Given the description of an element on the screen output the (x, y) to click on. 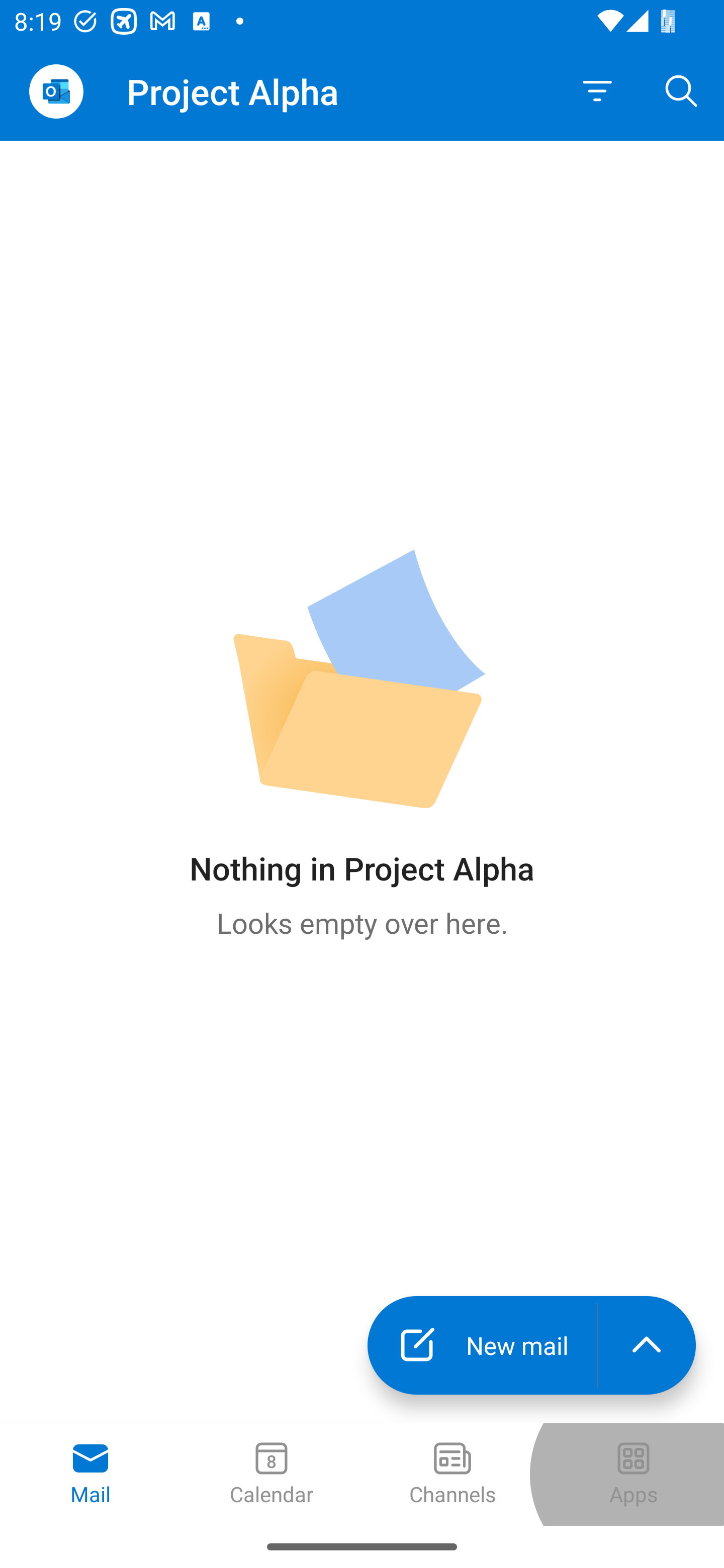
Search, ,  (681, 90)
Open Navigation Drawer (55, 91)
Filter (597, 91)
New mail (481, 1344)
launch the extended action menu (646, 1344)
Calendar (271, 1474)
Channels (452, 1474)
Apps (633, 1474)
